Given the description of an element on the screen output the (x, y) to click on. 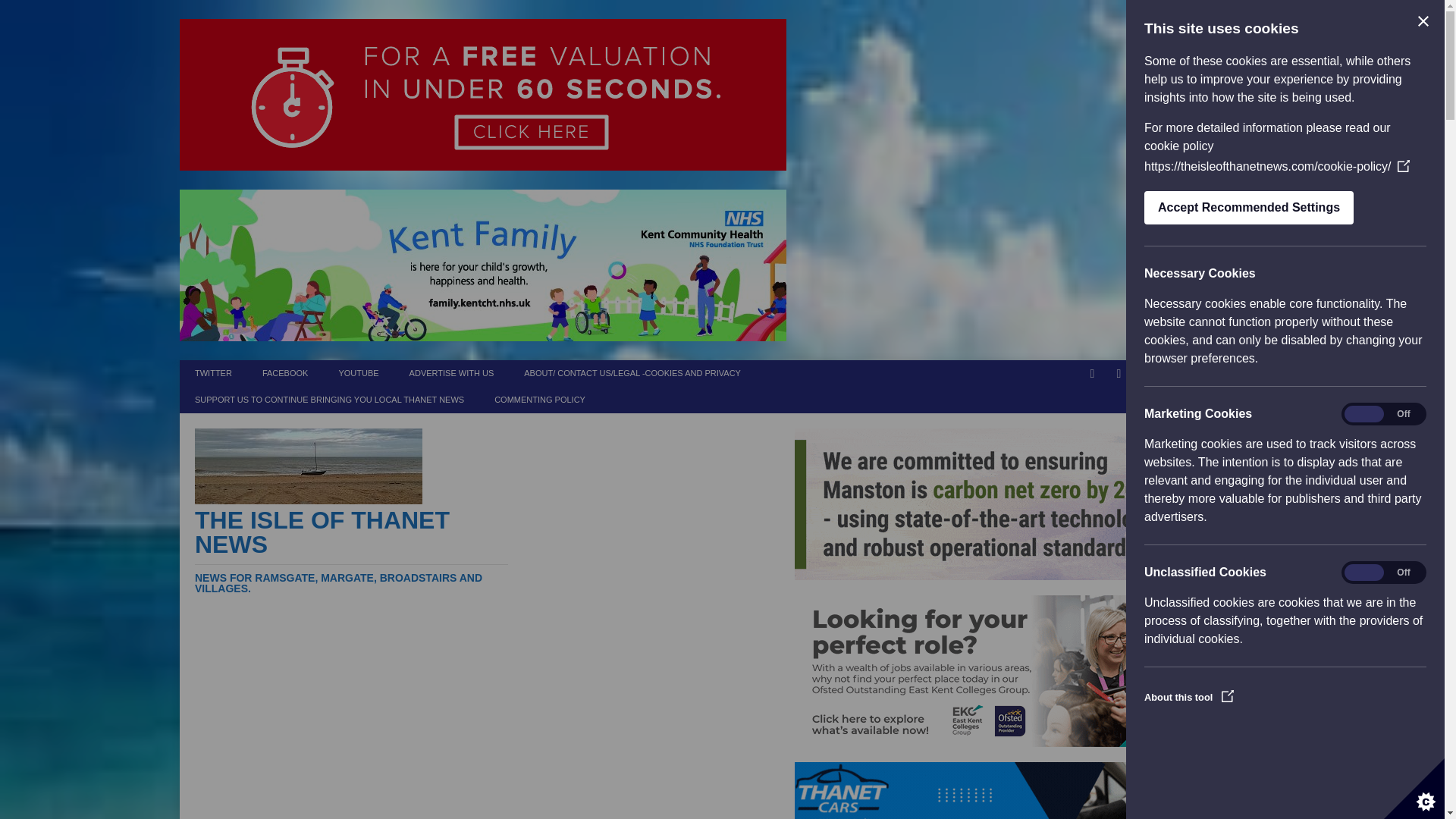
SUPPORT US TO CONTINUE BRINGING YOU LOCAL THANET NEWS (329, 399)
ADVERTISE WITH US (451, 373)
YOUTUBE (358, 373)
The Isle Of Thanet News (351, 550)
FACEBOOK (285, 373)
TWITTER (213, 373)
COMMENTING POLICY (539, 399)
